Given the description of an element on the screen output the (x, y) to click on. 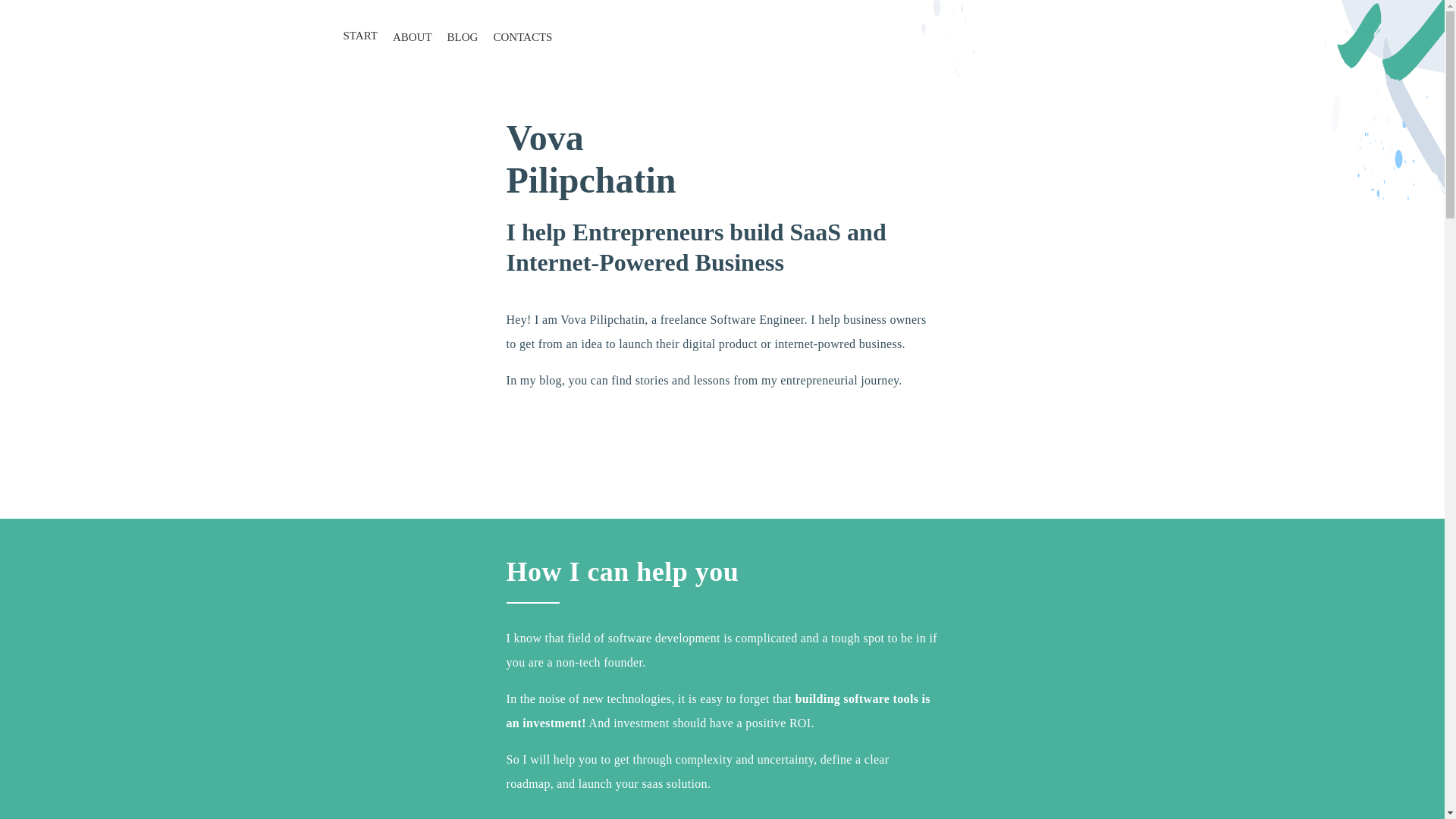
BLOG (462, 37)
CONTACTS (521, 37)
ABOUT (412, 37)
START (359, 35)
